Given the description of an element on the screen output the (x, y) to click on. 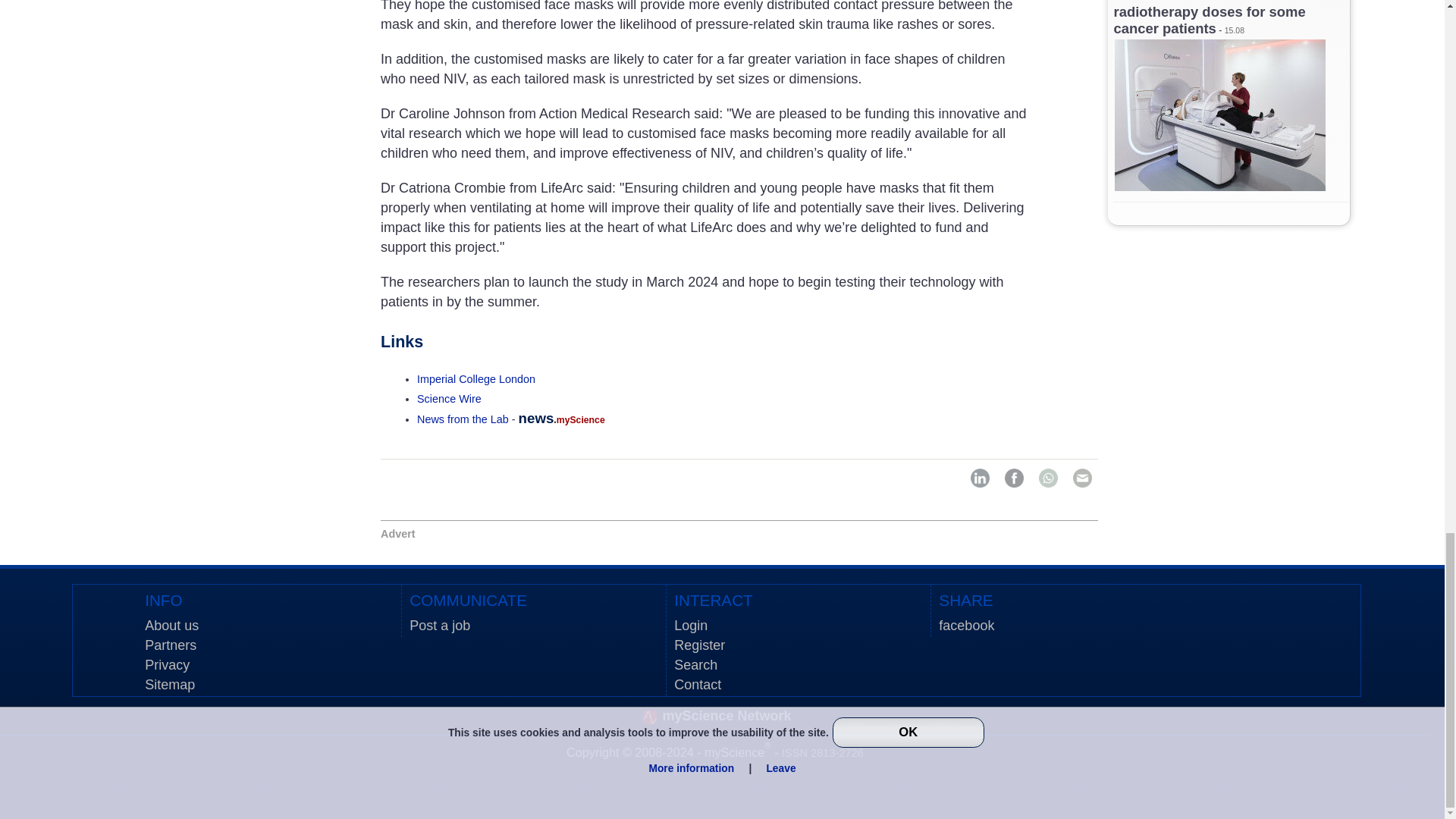
Share on LinkedIn (980, 477)
Send by Email (1082, 477)
News (462, 419)
Share on WhatsApp Web (1047, 477)
Share on Facebook (1014, 477)
All news and press releases (448, 398)
